Given the description of an element on the screen output the (x, y) to click on. 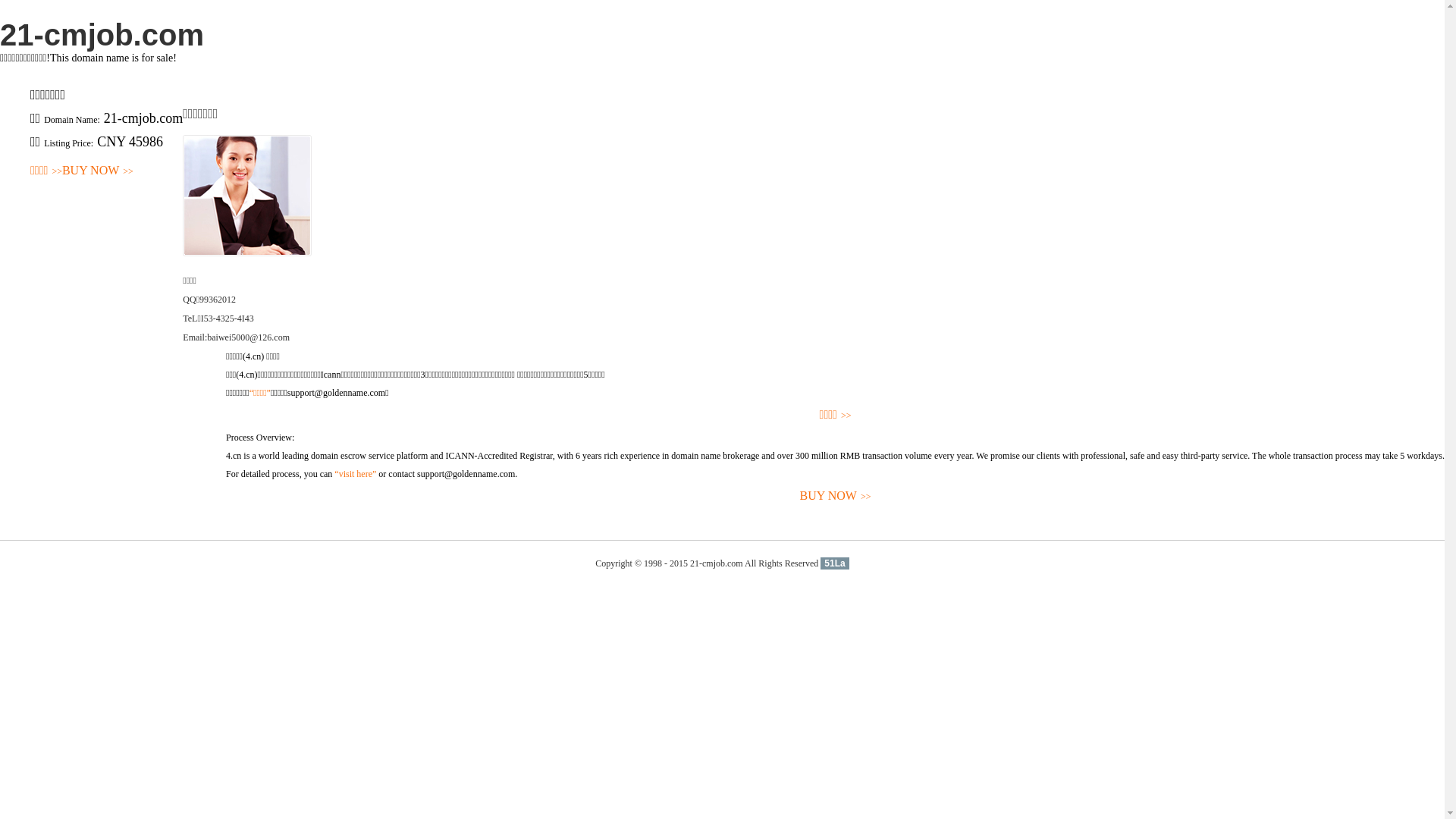
BUY NOW>> Element type: text (834, 496)
51La Element type: text (834, 563)
BUY NOW>> Element type: text (97, 170)
